Given the description of an element on the screen output the (x, y) to click on. 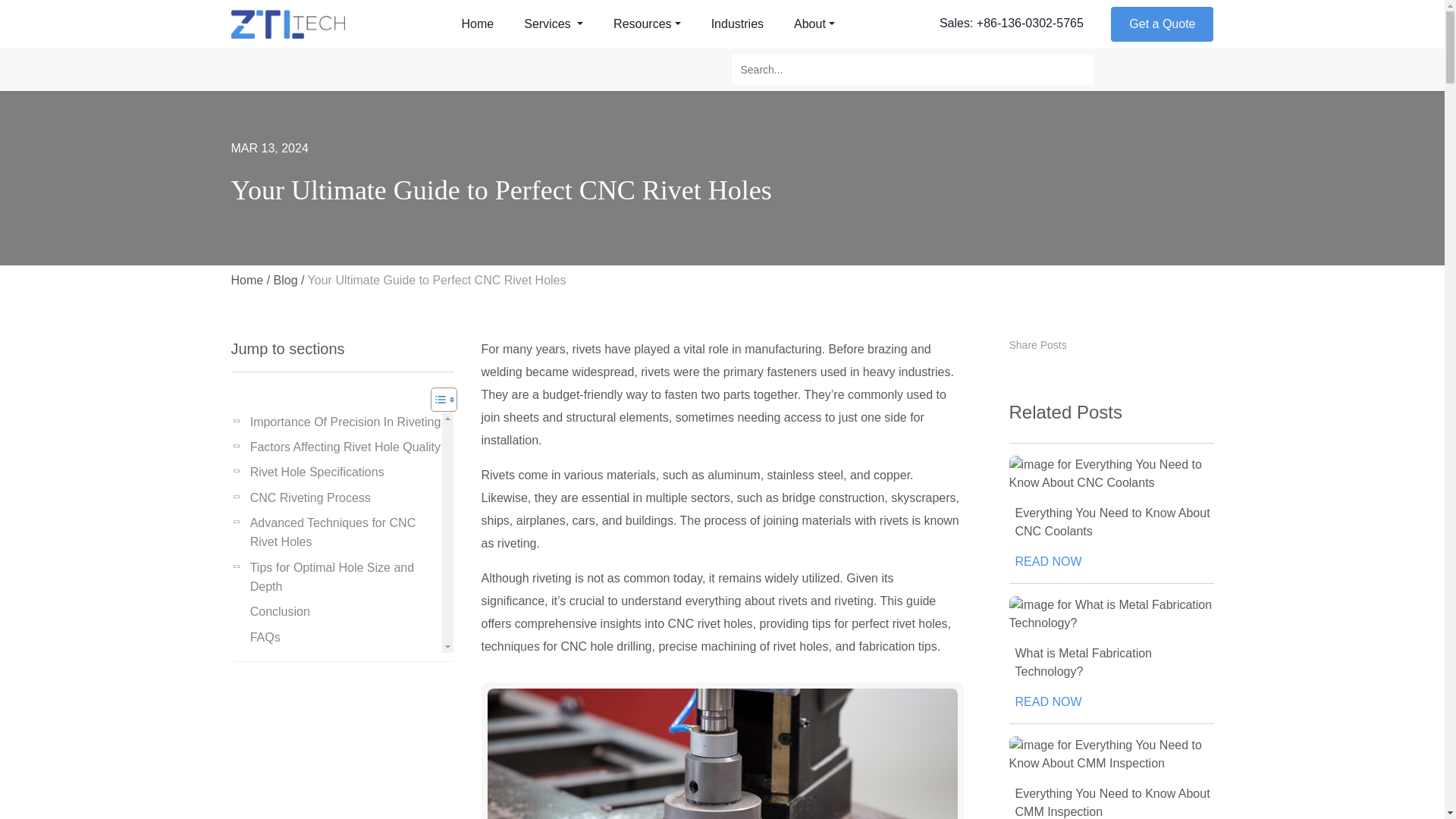
Services (553, 23)
Importance Of Precision In Riveting (342, 422)
Factors Affecting Rivet Hole Quality (342, 447)
Home (478, 23)
